Given the description of an element on the screen output the (x, y) to click on. 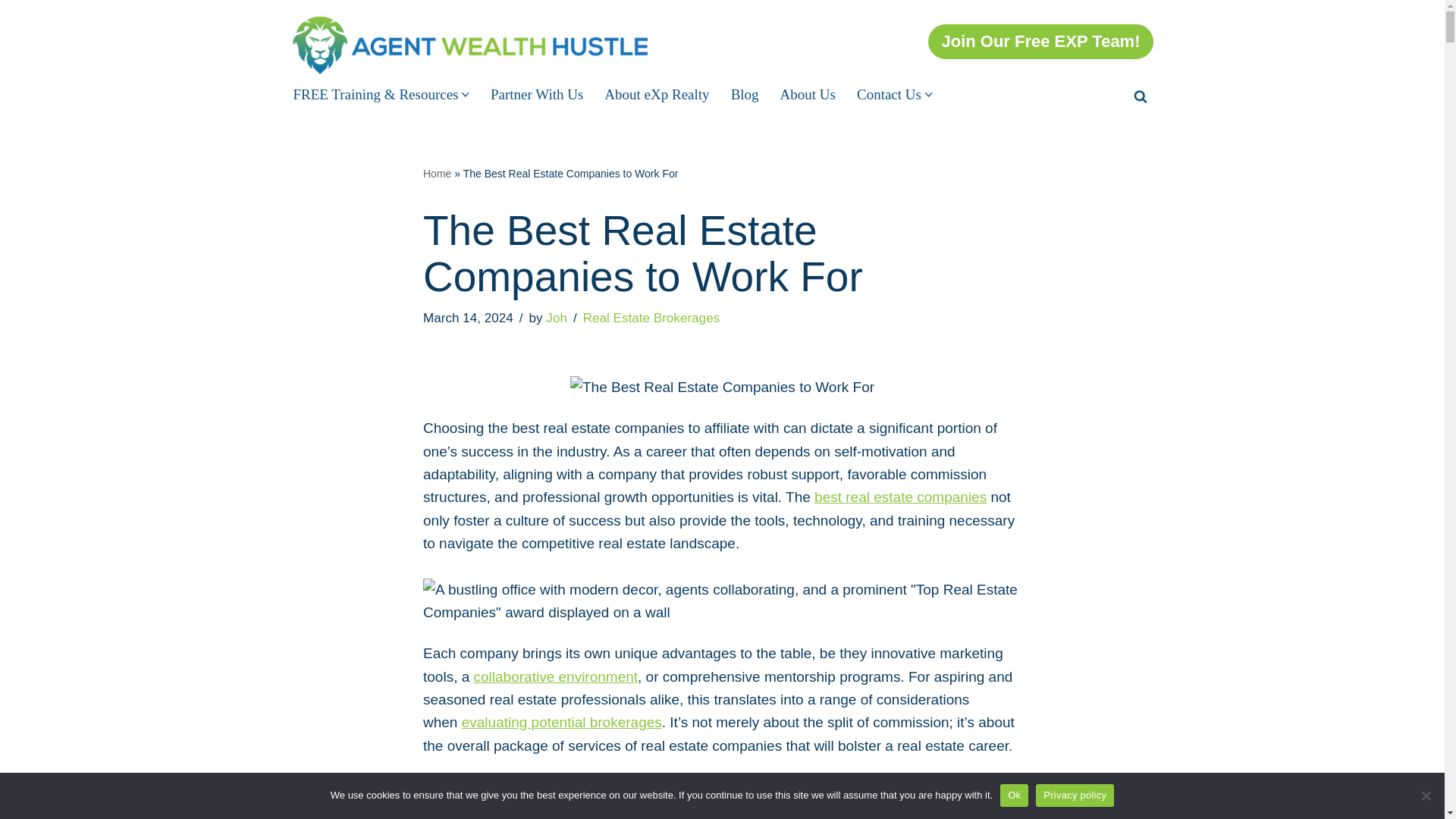
Join Our Free EXP Team! (1040, 40)
Navigation Menu (1420, 17)
About Us (807, 94)
Partner With Us (536, 94)
Skip to content (11, 31)
About eXp Realty (656, 94)
Posts by Joh (556, 318)
No (1425, 795)
Blog (744, 94)
Contact Us (889, 94)
